Given the description of an element on the screen output the (x, y) to click on. 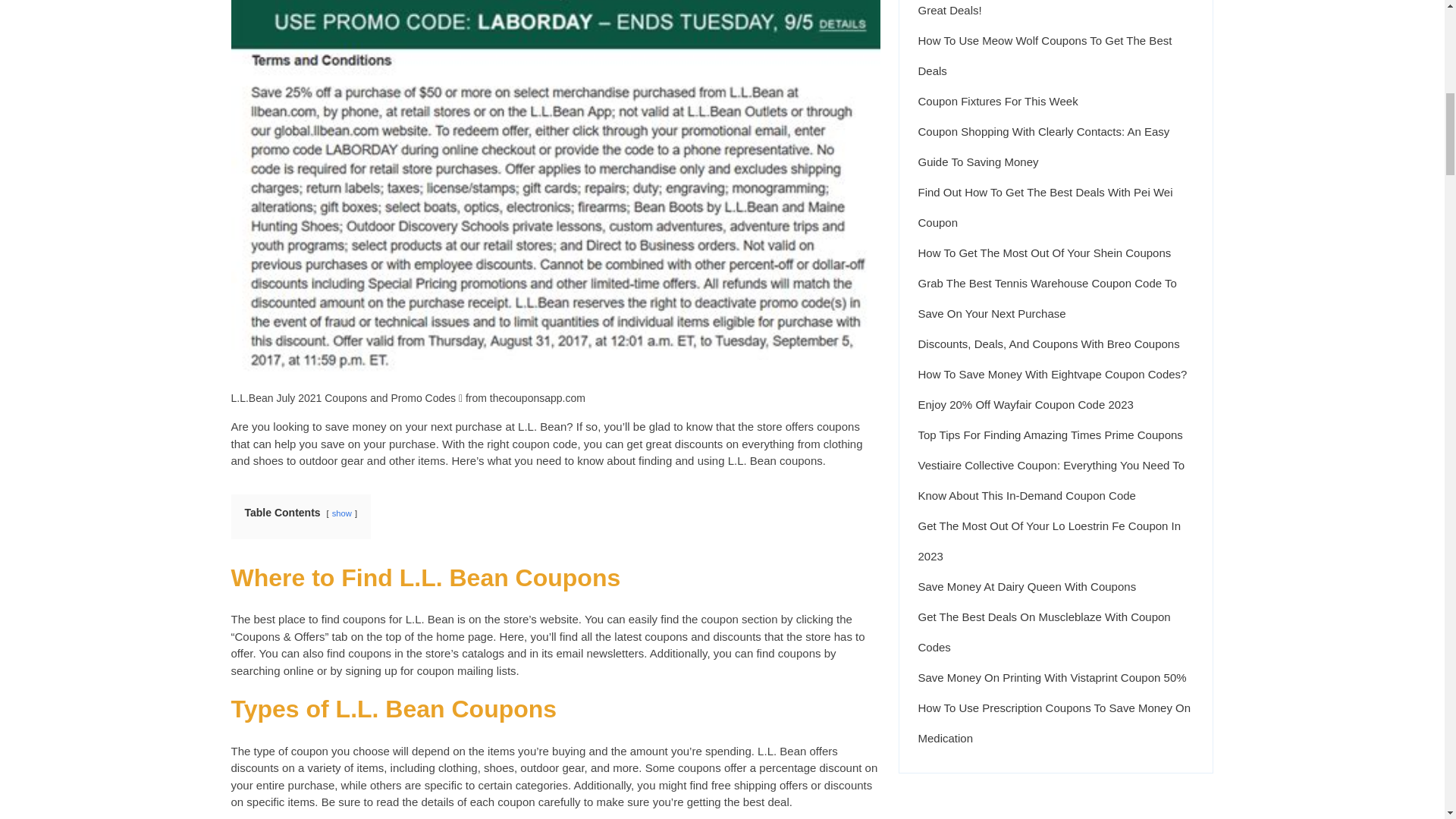
show (341, 512)
